Given the description of an element on the screen output the (x, y) to click on. 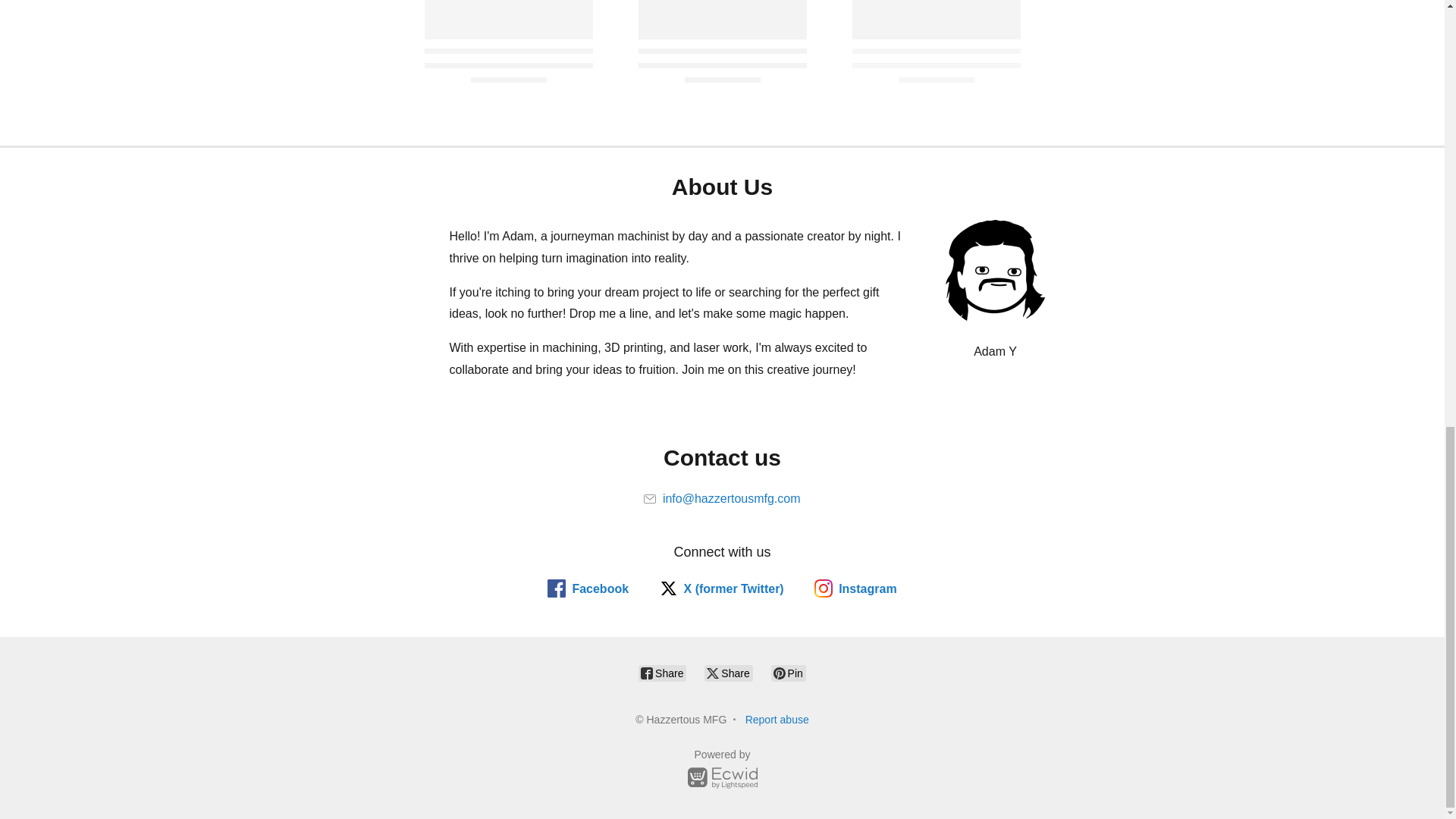
Instagram (854, 588)
Powered by (722, 771)
Share (728, 673)
Pin (788, 673)
Facebook (587, 588)
Share (662, 673)
Report abuse (777, 719)
